Given the description of an element on the screen output the (x, y) to click on. 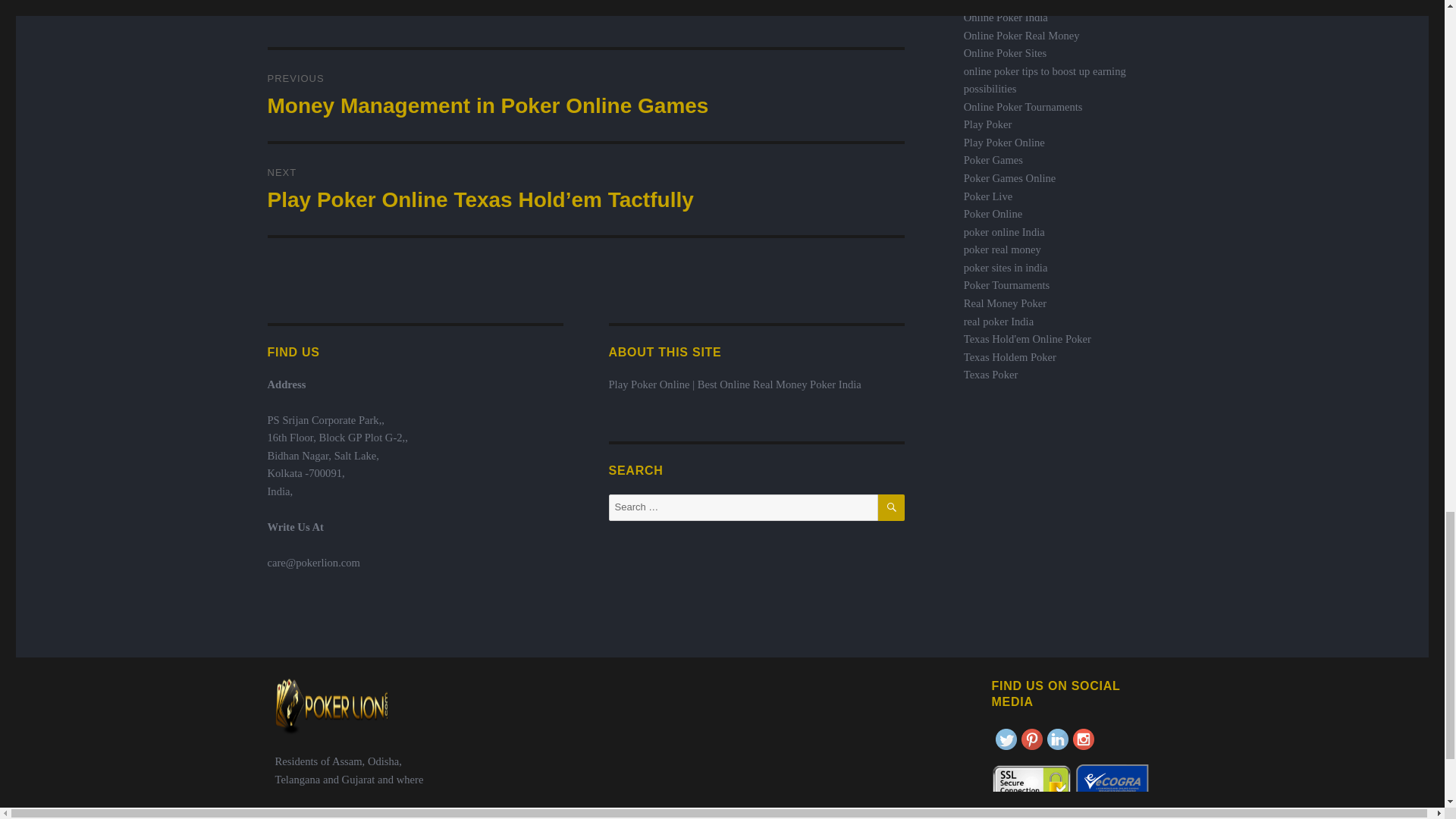
PokerLion is the best site to play online poker in India (1005, 17)
Play poker at India's best online poker sites (1004, 52)
Play Poker at India's best online poker gaming site (987, 123)
